Given the description of an element on the screen output the (x, y) to click on. 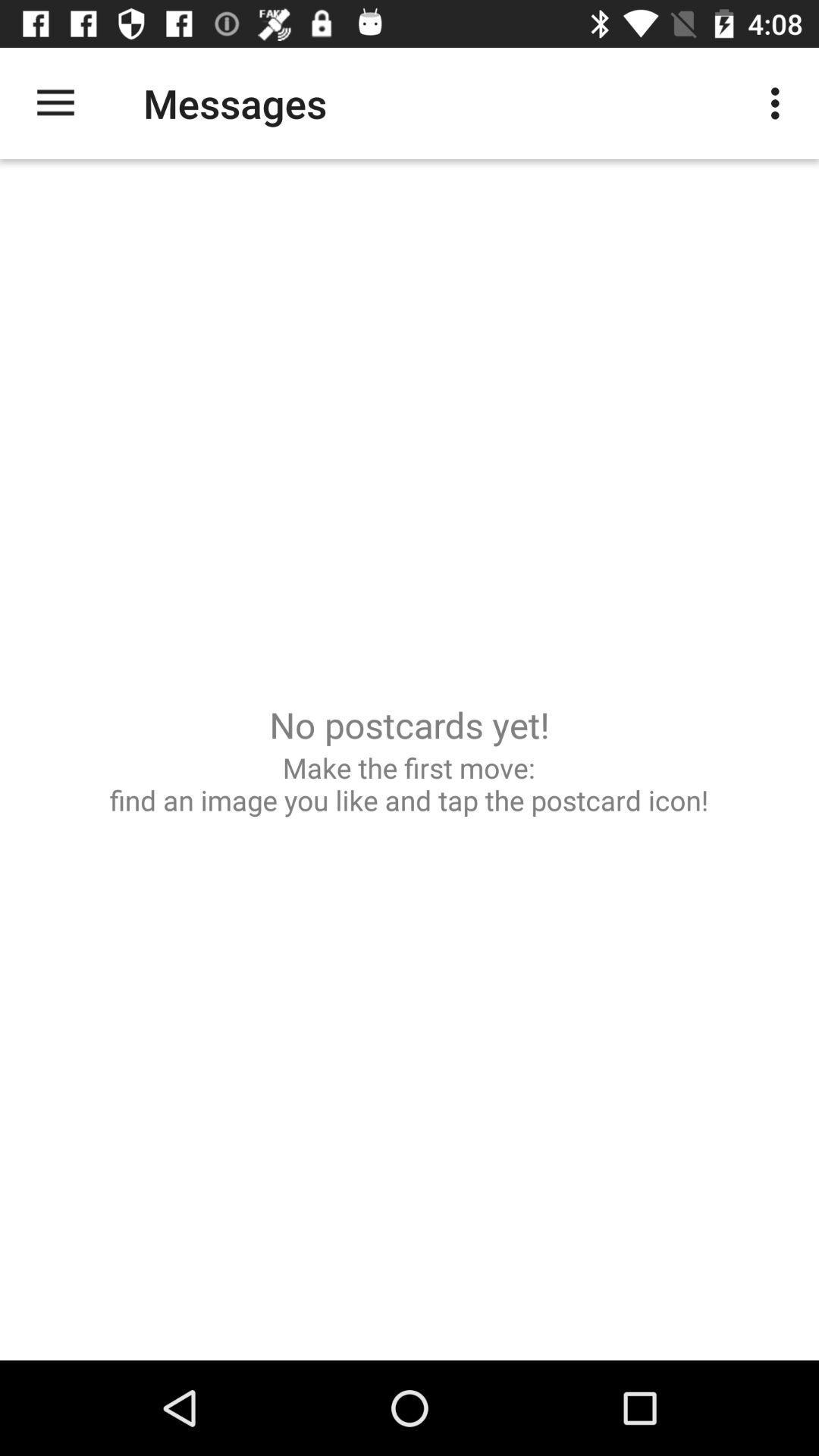
turn on the item at the top right corner (779, 103)
